Given the description of an element on the screen output the (x, y) to click on. 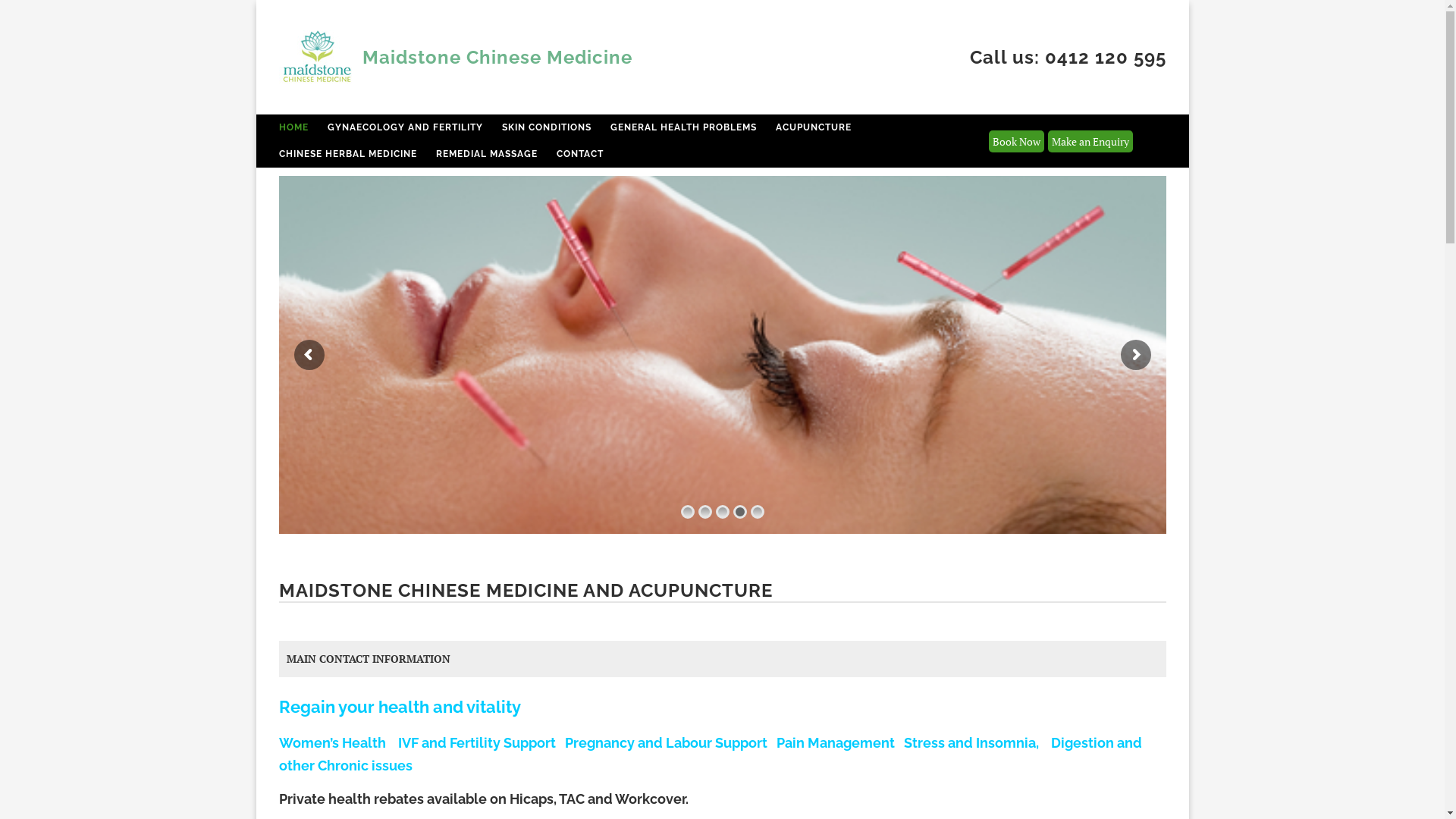
Make an Enquiry Element type: text (1090, 141)
Book Now Element type: text (1016, 141)
HOME Element type: text (293, 127)
CONTACT Element type: text (579, 154)
SKIN CONDITIONS Element type: text (546, 127)
REMEDIAL MASSAGE Element type: text (485, 154)
Maidstone Chinese Medicine Element type: text (500, 56)
GYNAECOLOGY AND FERTILITY Element type: text (405, 127)
GENERAL HEALTH PROBLEMS Element type: text (682, 127)
CHINESE HERBAL MEDICINE Element type: text (348, 154)
ACUPUNCTURE Element type: text (812, 127)
